Given the description of an element on the screen output the (x, y) to click on. 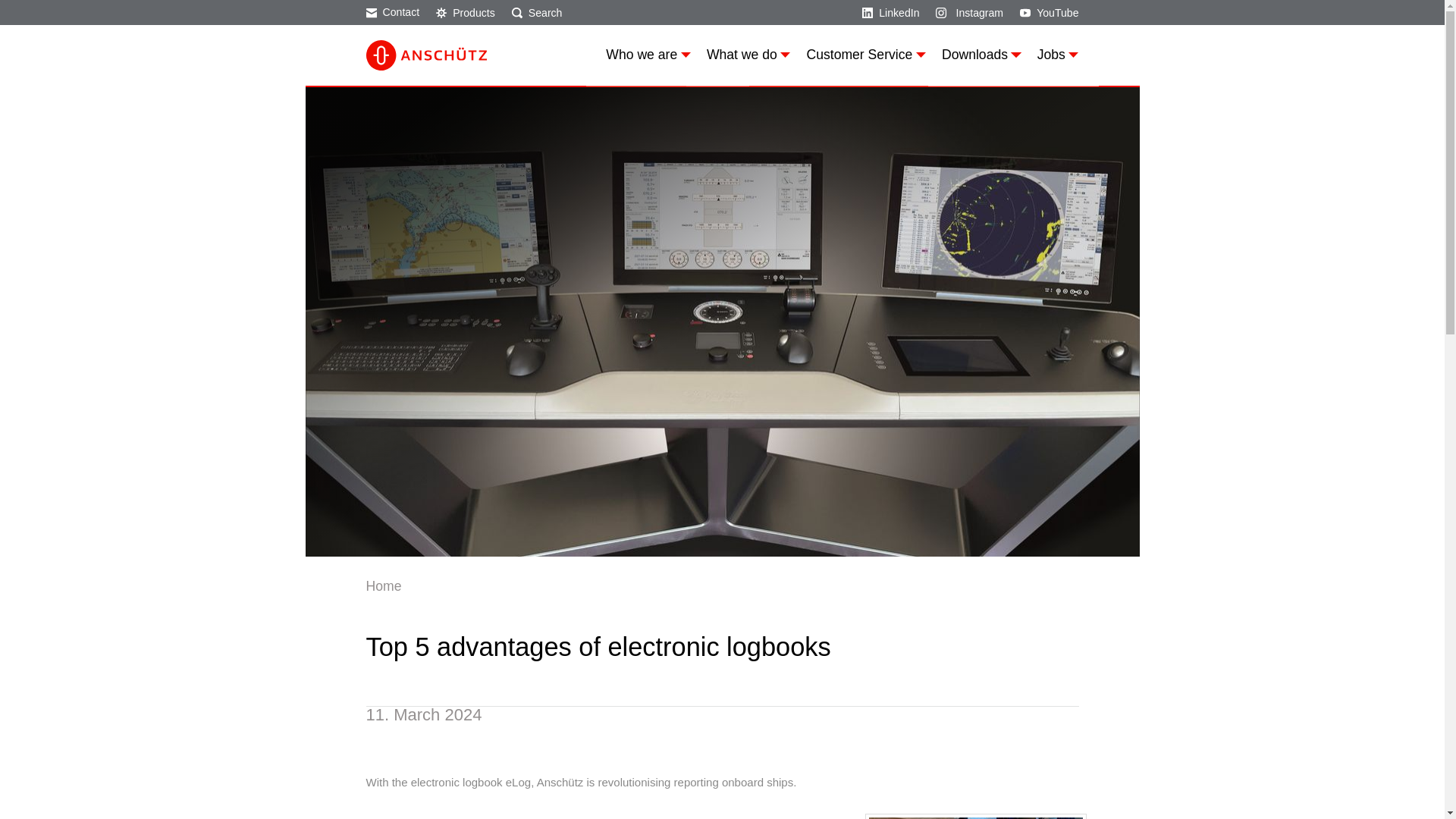
What we do (748, 54)
Who we are (647, 54)
Instagram (969, 11)
Contact (392, 11)
Products (465, 11)
Search (537, 11)
What we do (748, 54)
Customer Service (865, 54)
YouTube (1049, 11)
LinkedIn (889, 11)
